Given the description of an element on the screen output the (x, y) to click on. 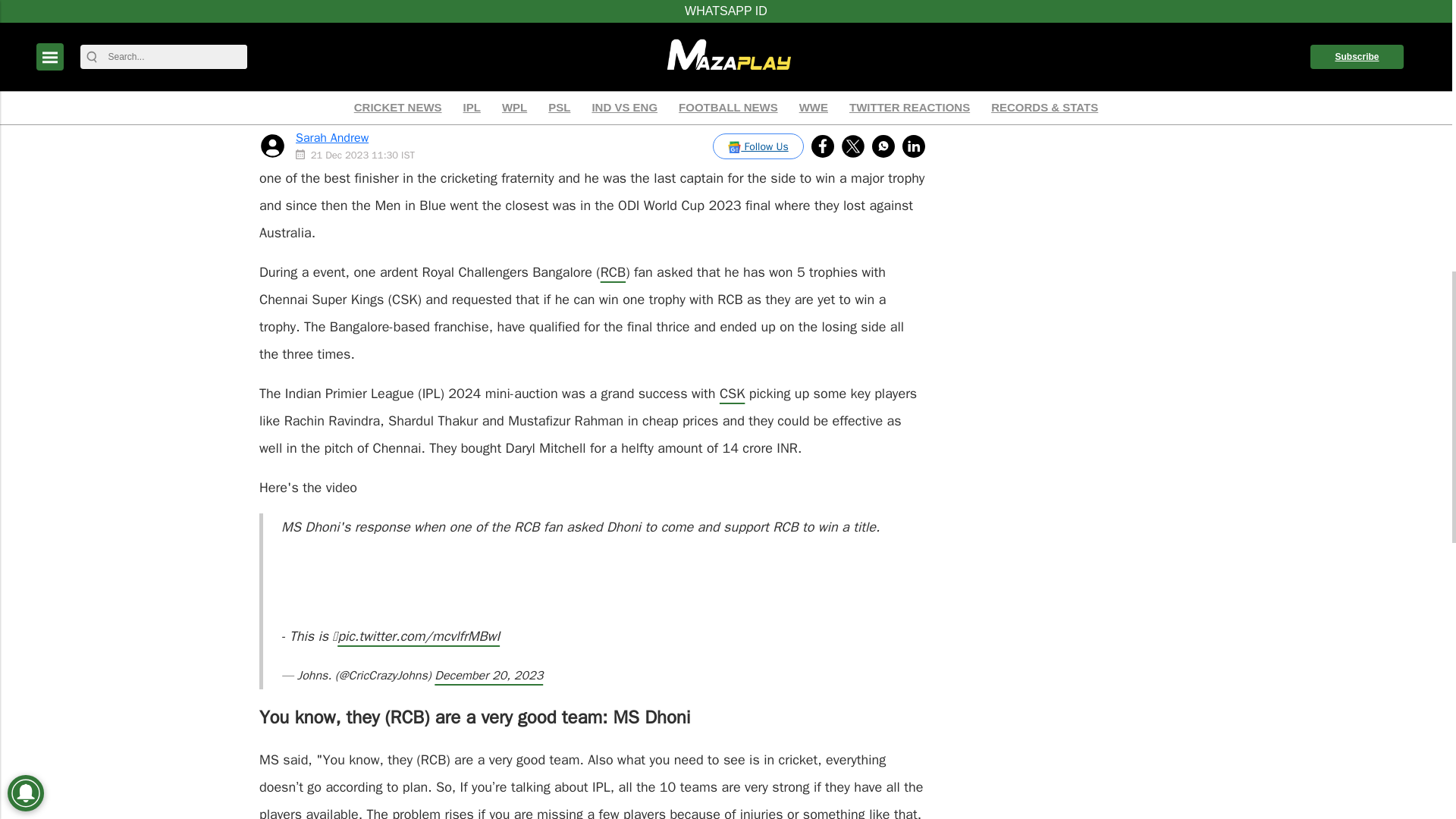
RCB (612, 271)
CSK (731, 393)
42-year-old (676, 123)
